Given the description of an element on the screen output the (x, y) to click on. 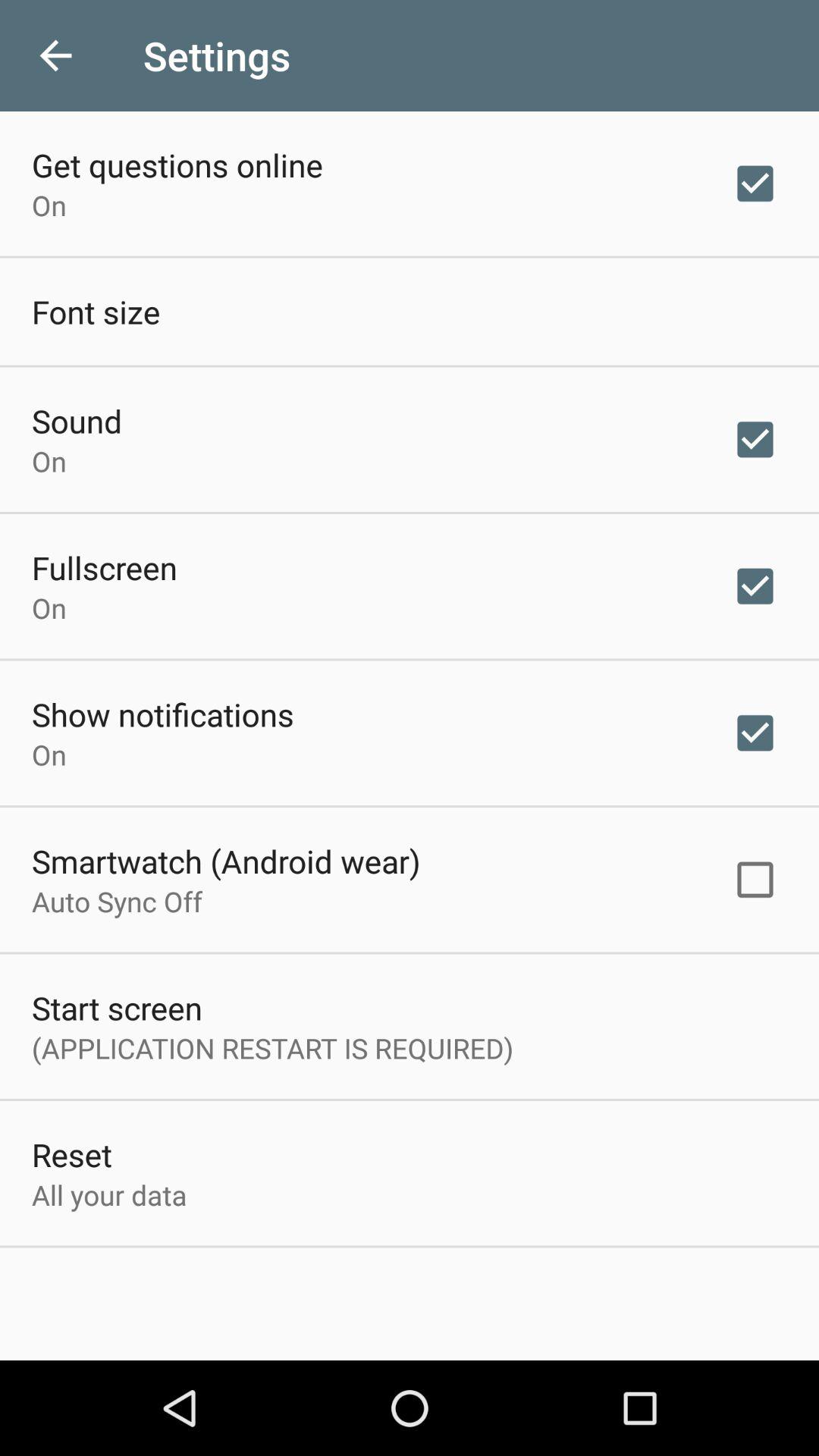
launch the fullscreen (104, 567)
